Given the description of an element on the screen output the (x, y) to click on. 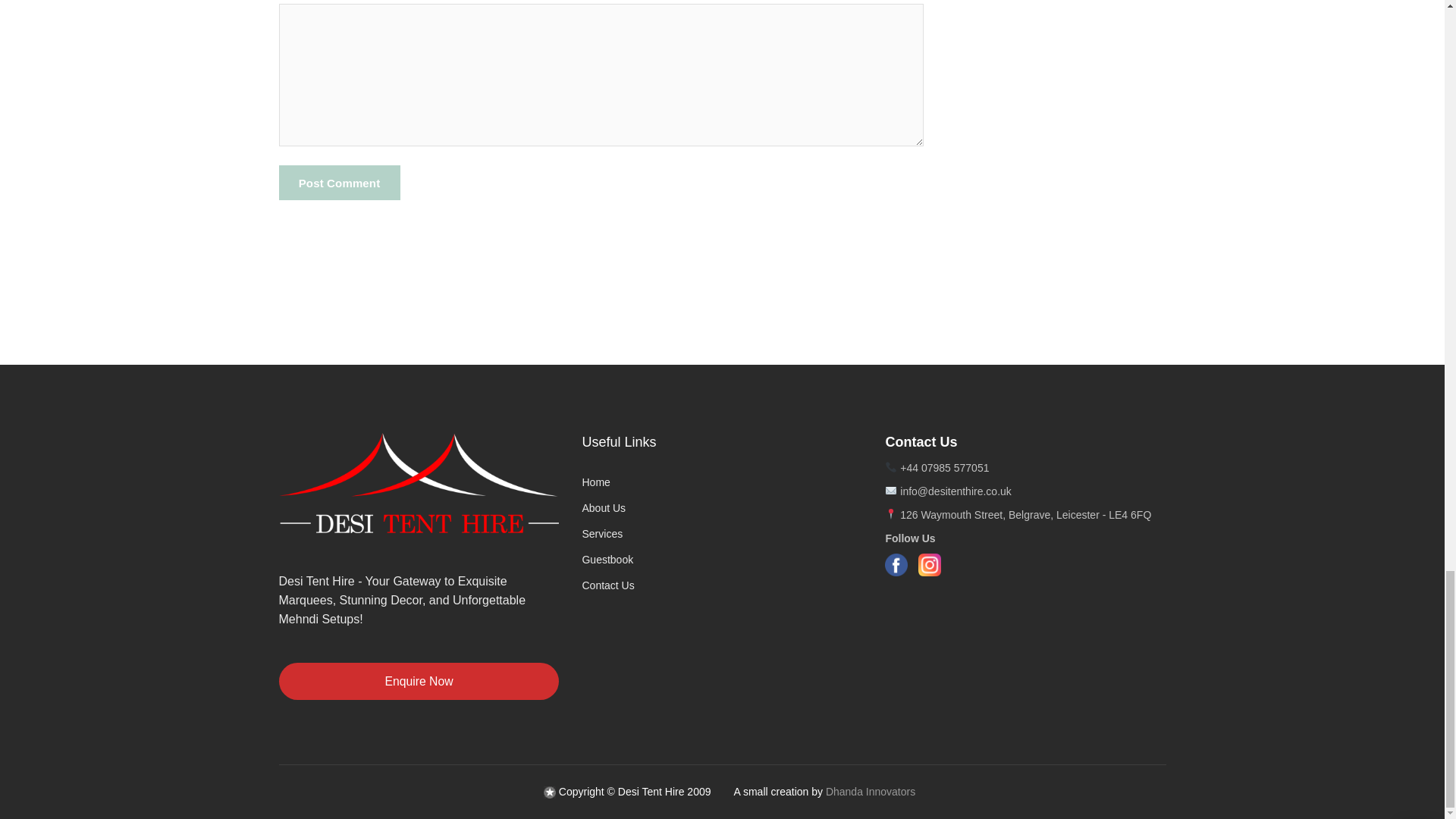
follow the link (549, 791)
Post Comment (339, 182)
Post Comment (339, 182)
